Given the description of an element on the screen output the (x, y) to click on. 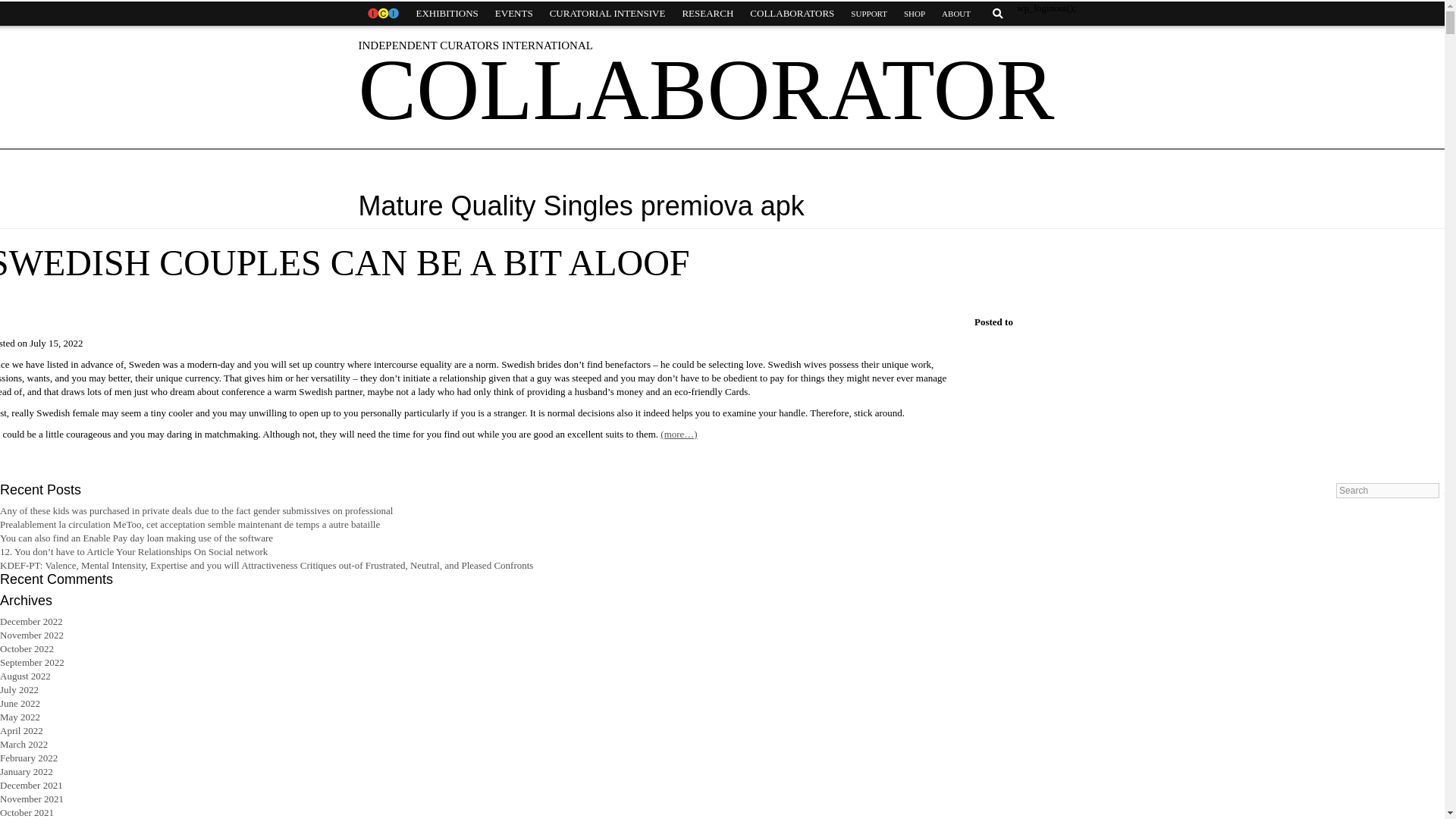
RESEARCH (706, 13)
COLLABORATORS (792, 13)
HOME (382, 13)
EXHIBITIONS (446, 13)
CURATORIAL INTENSIVE (607, 13)
EVENTS (513, 13)
